Given the description of an element on the screen output the (x, y) to click on. 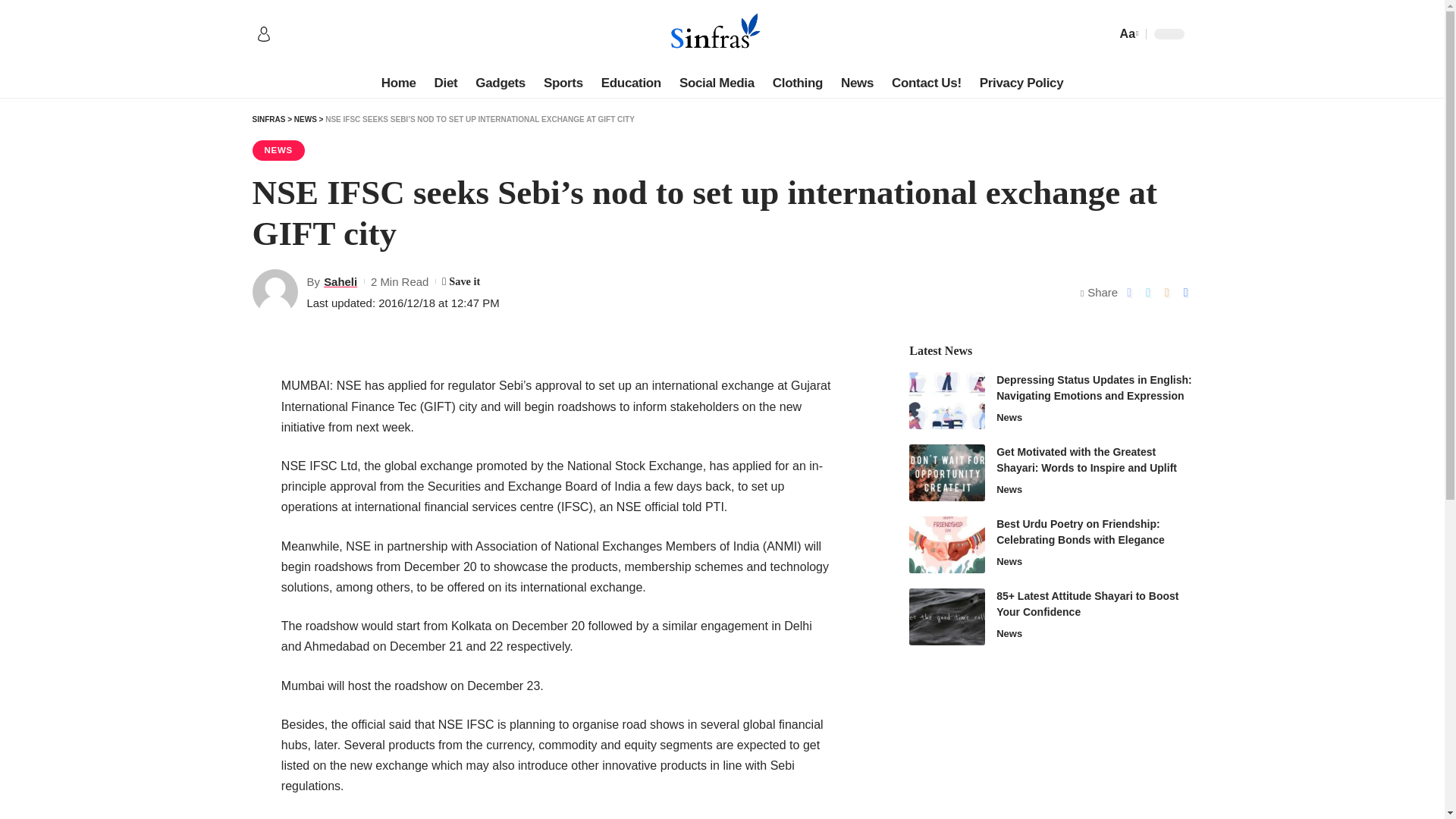
Sports (563, 82)
NEWS (277, 150)
Clothing (796, 82)
Go to Sinfras. (268, 119)
Social Media (715, 82)
Diet (446, 82)
News (856, 82)
SINFRAS (268, 119)
